Given the description of an element on the screen output the (x, y) to click on. 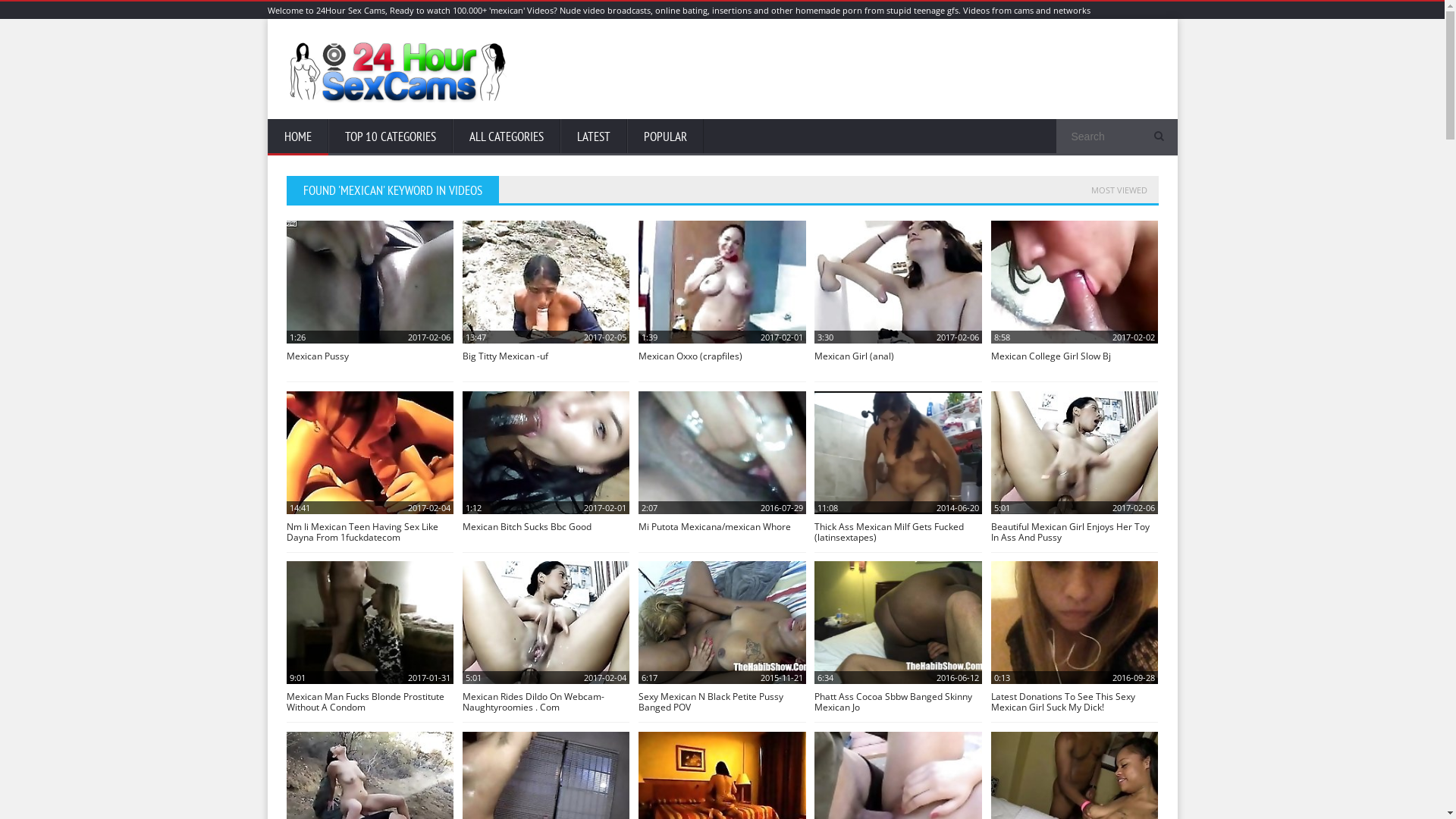
13:47
2017-02-05
Big Titty Mexican -uf Element type: text (546, 296)
HOME Element type: text (296, 137)
MOST VIEWED Element type: text (1118, 189)
1:26
2017-02-06
Mexican Pussy Element type: text (370, 296)
8:58
2017-02-02
Mexican College Girl Slow Bj Element type: text (1074, 296)
24 Hour Sex Cams Element type: hover (404, 71)
6:17
2015-11-21
Sexy Mexican N Black Petite Pussy Banged POV Element type: text (722, 637)
3:30
2017-02-06
Mexican Girl (anal) Element type: text (898, 296)
ALL CATEGORIES Element type: text (505, 137)
2:07
2016-07-29
Mi Putota Mexicana/mexican Whore Element type: text (722, 467)
LATEST Element type: text (592, 137)
1:39
2017-02-01
Mexican Oxxo (crapfiles) Element type: text (722, 296)
POPULAR Element type: text (664, 137)
1:12
2017-02-01
Mexican Bitch Sucks Bbc Good Element type: text (546, 467)
TOP 10 CATEGORIES Element type: text (389, 137)
24 Hour Sex Cams Element type: hover (404, 98)
